Given the description of an element on the screen output the (x, y) to click on. 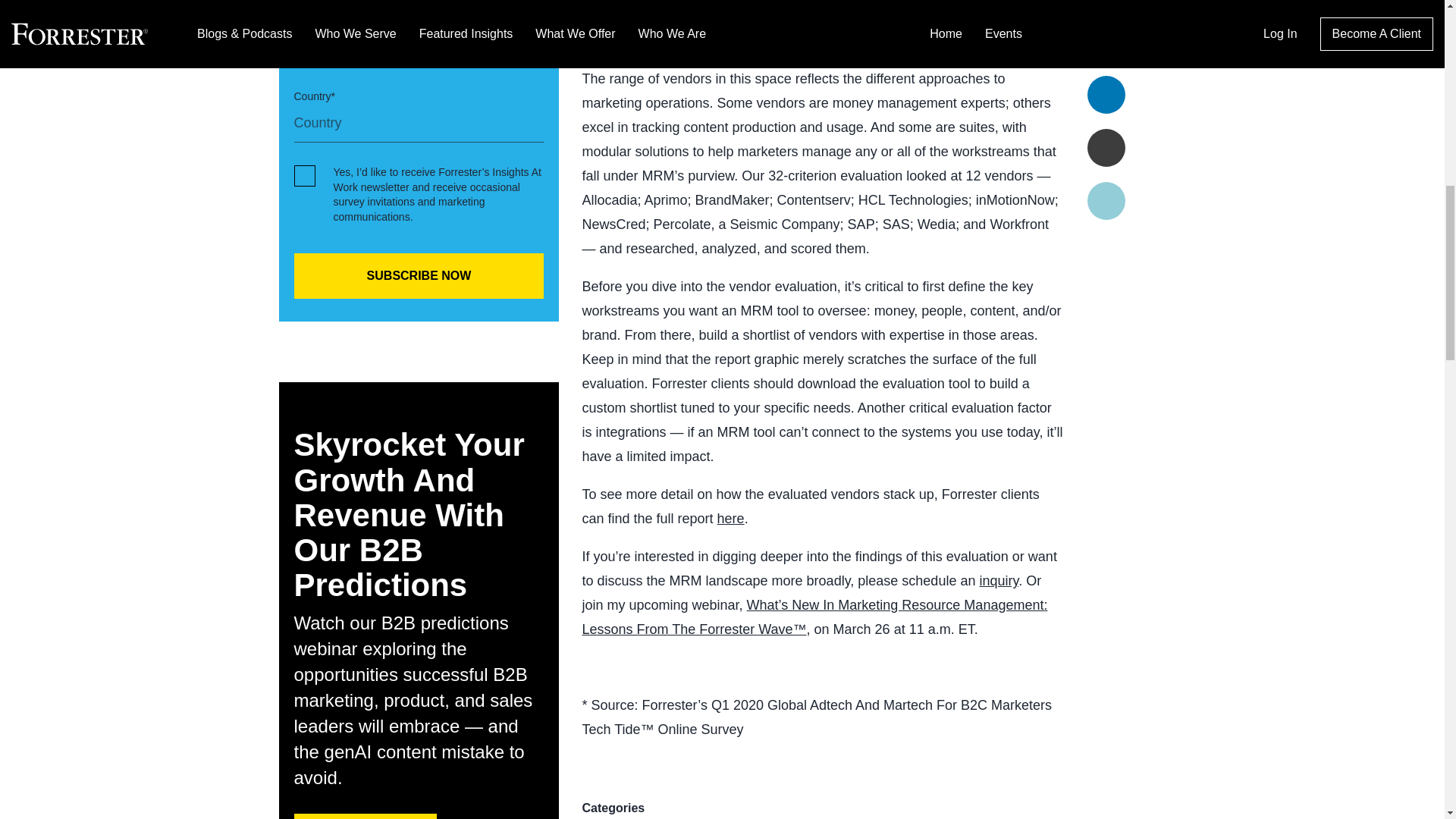
Subscribe Now (419, 275)
